Given the description of an element on the screen output the (x, y) to click on. 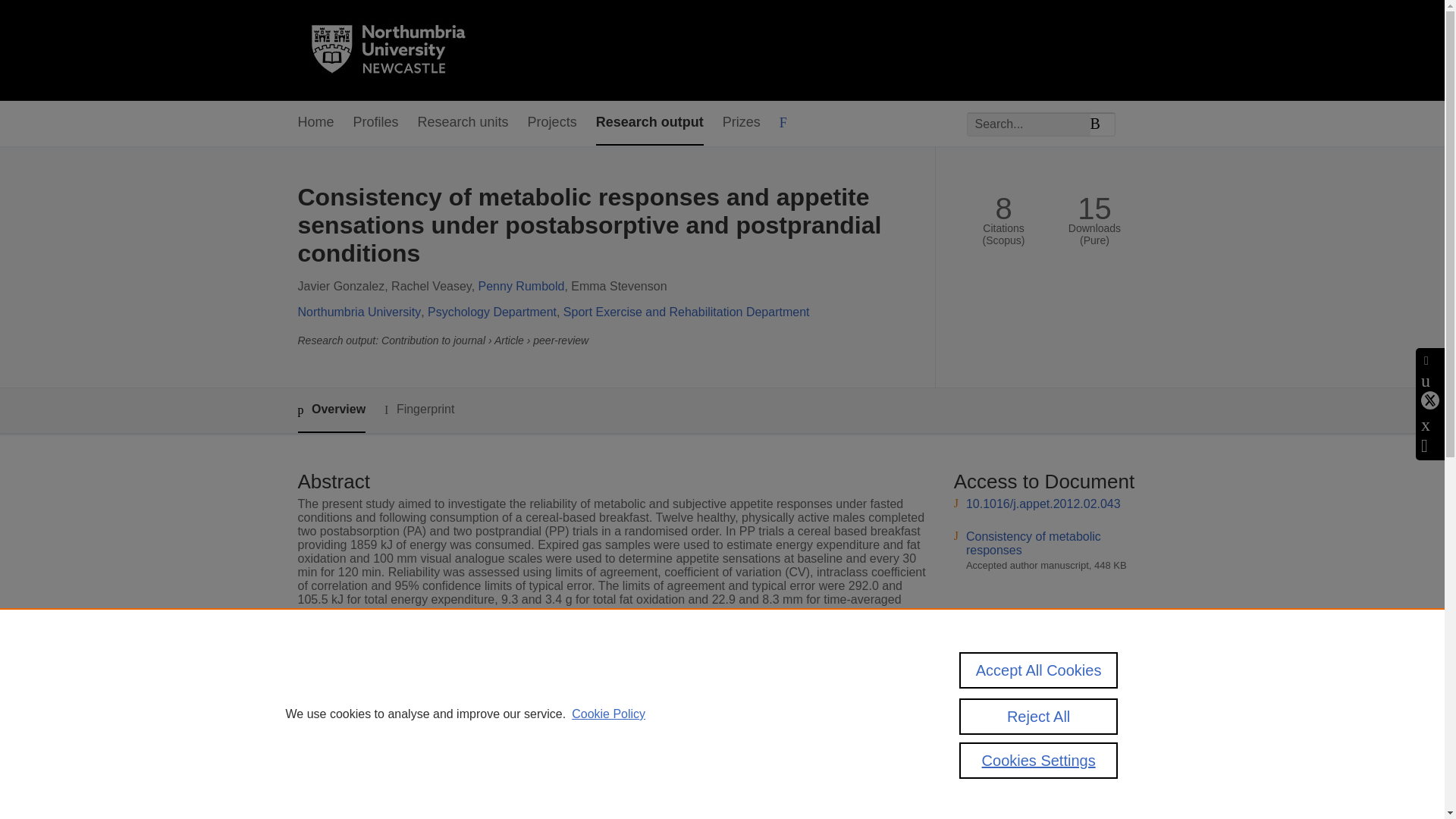
Appetite (534, 727)
Fingerprint (419, 409)
Sport Exercise and Rehabilitation Department (686, 311)
Penny Rumbold (521, 286)
Research output (649, 122)
Projects (551, 122)
Consistency of metabolic responses (1033, 542)
Research units (462, 122)
Psychology Department (492, 311)
Overview (331, 410)
